Given the description of an element on the screen output the (x, y) to click on. 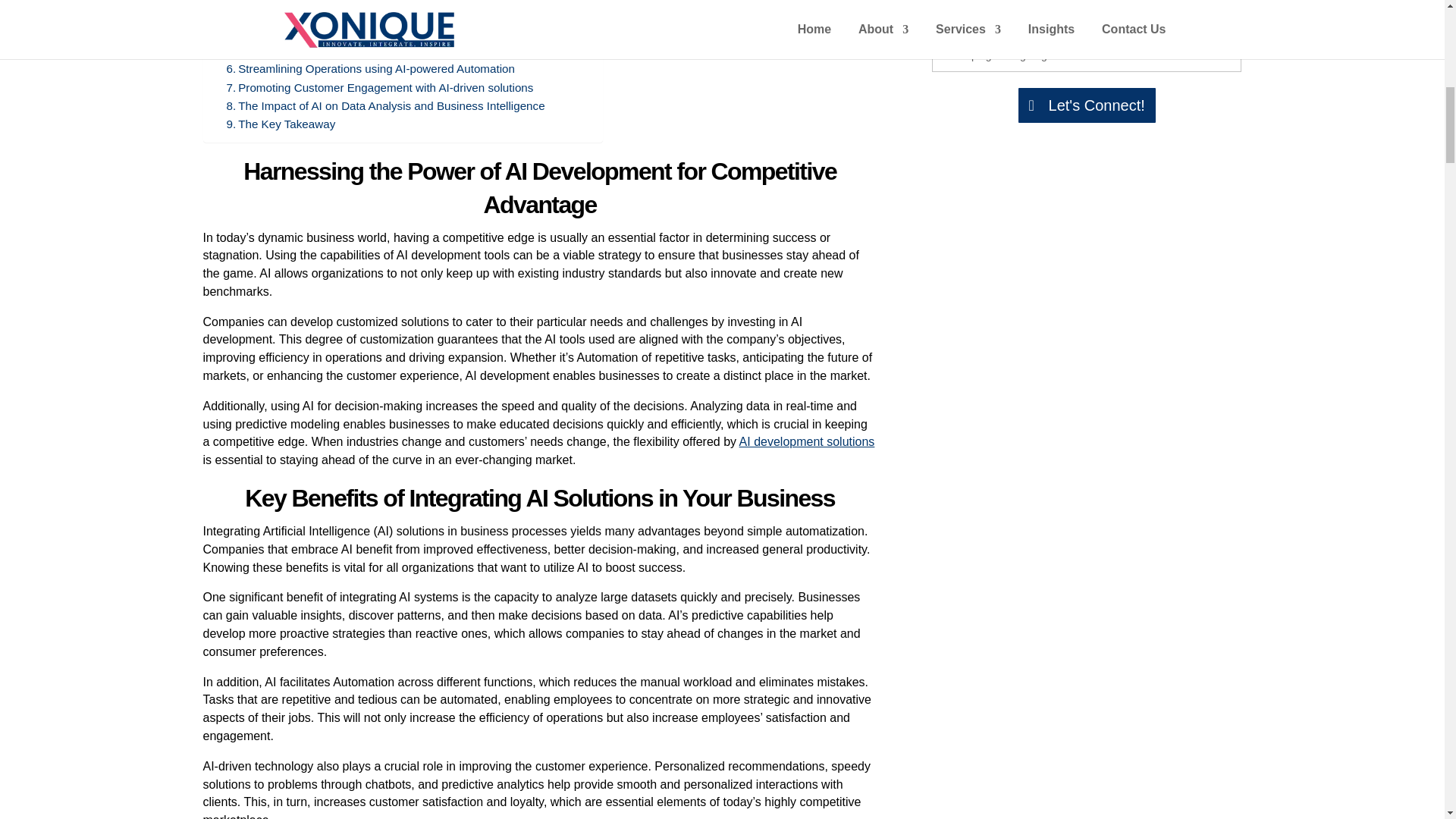
Promoting Customer Engagement with AI-driven solutions (378, 87)
Customizing AI Solutions to Meet Business-Specific Needs (381, 32)
Leveraging Machine Learning for Enhanced Decision-Making (387, 50)
Streamlining Operations using AI-powered Automation (369, 68)
Key Benefits of Integrating AI Solutions in Your Business (375, 2)
Exploring the Range of AI Development Services Available (380, 13)
